Given the description of an element on the screen output the (x, y) to click on. 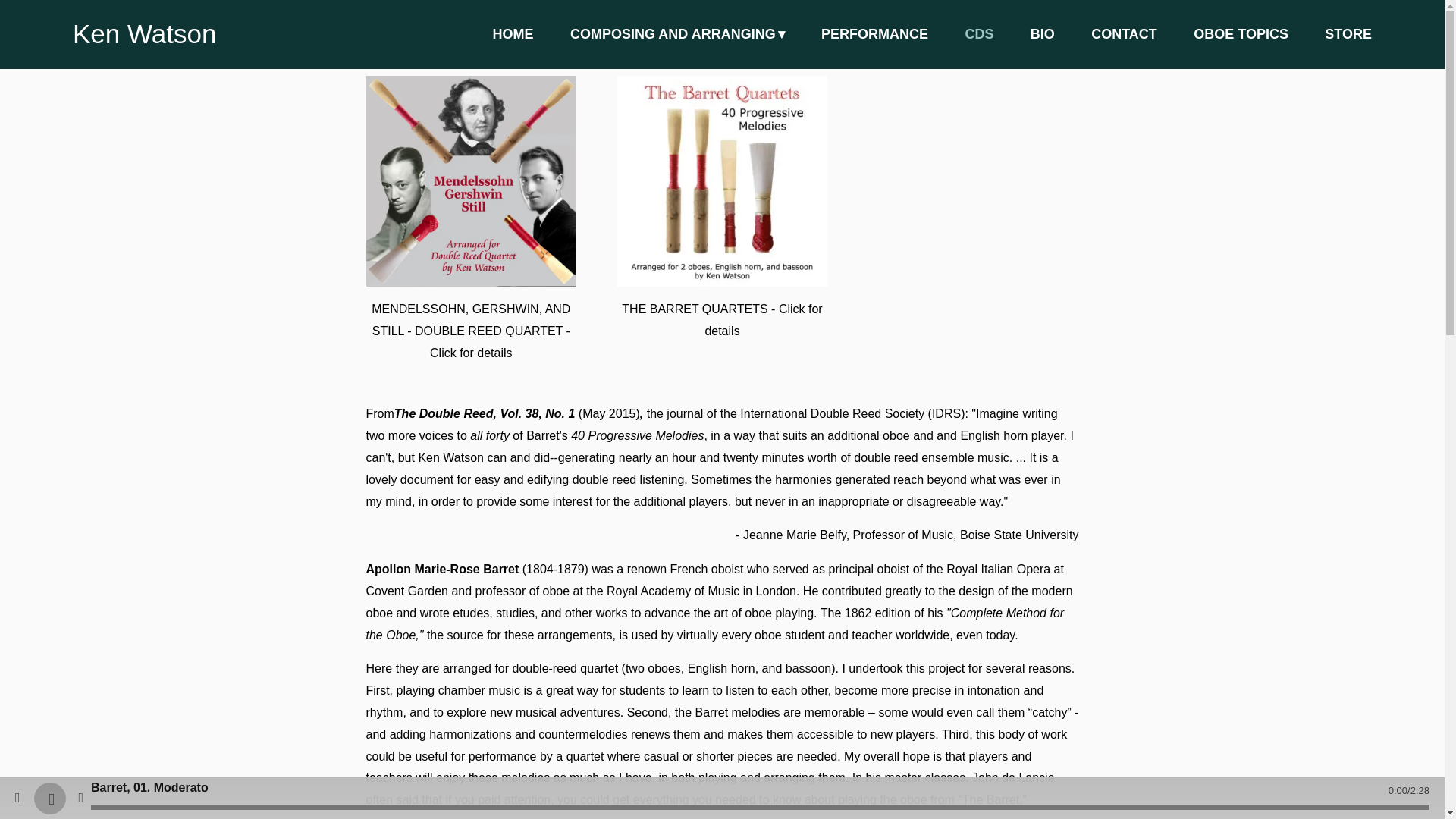
PERFORMANCE (874, 34)
OBOE TOPICS (1240, 34)
Ken Watson (143, 34)
STORE (1347, 34)
CDS (977, 34)
CONTACT (1123, 34)
HOME (513, 34)
BIO (1042, 34)
COMPOSING AND ARRANGING (677, 34)
